Given the description of an element on the screen output the (x, y) to click on. 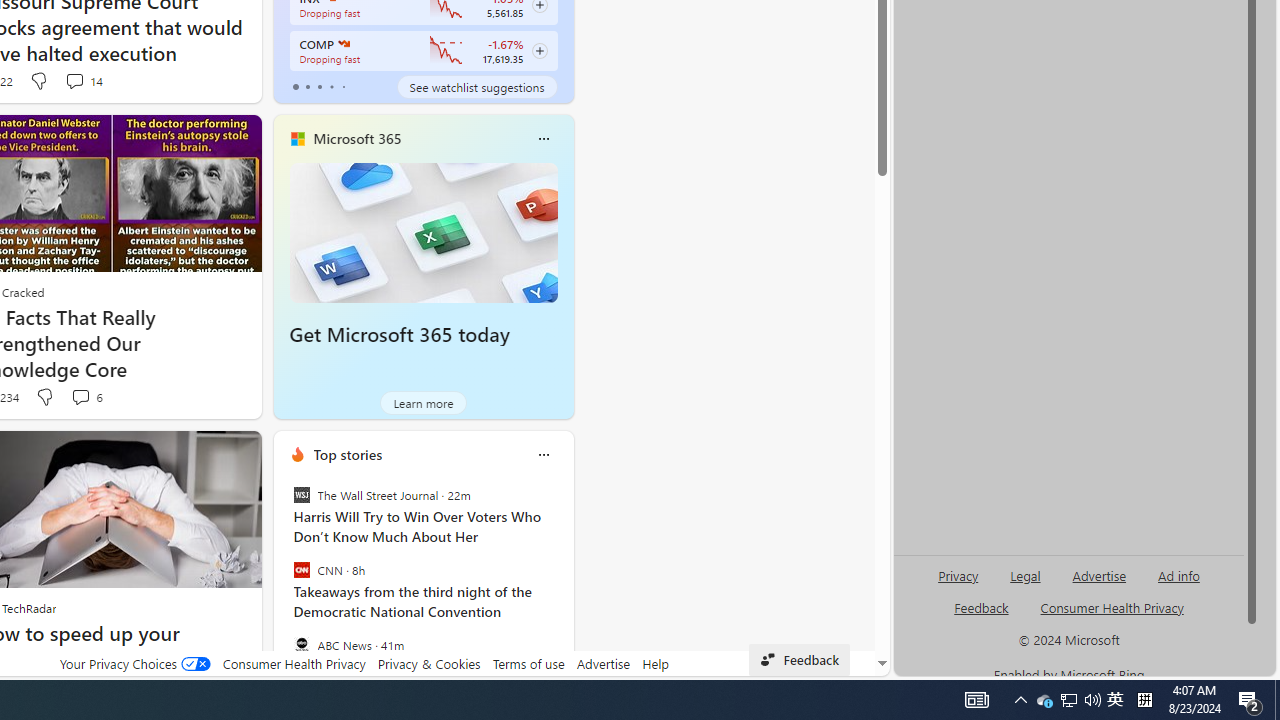
tab-2 (319, 86)
tab-4 (342, 86)
View comments 6 Comment (80, 396)
View comments 14 Comment (83, 80)
tab-1 (306, 86)
AutomationID: sb_feedback (980, 607)
AutomationID: genId96 (981, 615)
Top stories (347, 454)
